Given the description of an element on the screen output the (x, y) to click on. 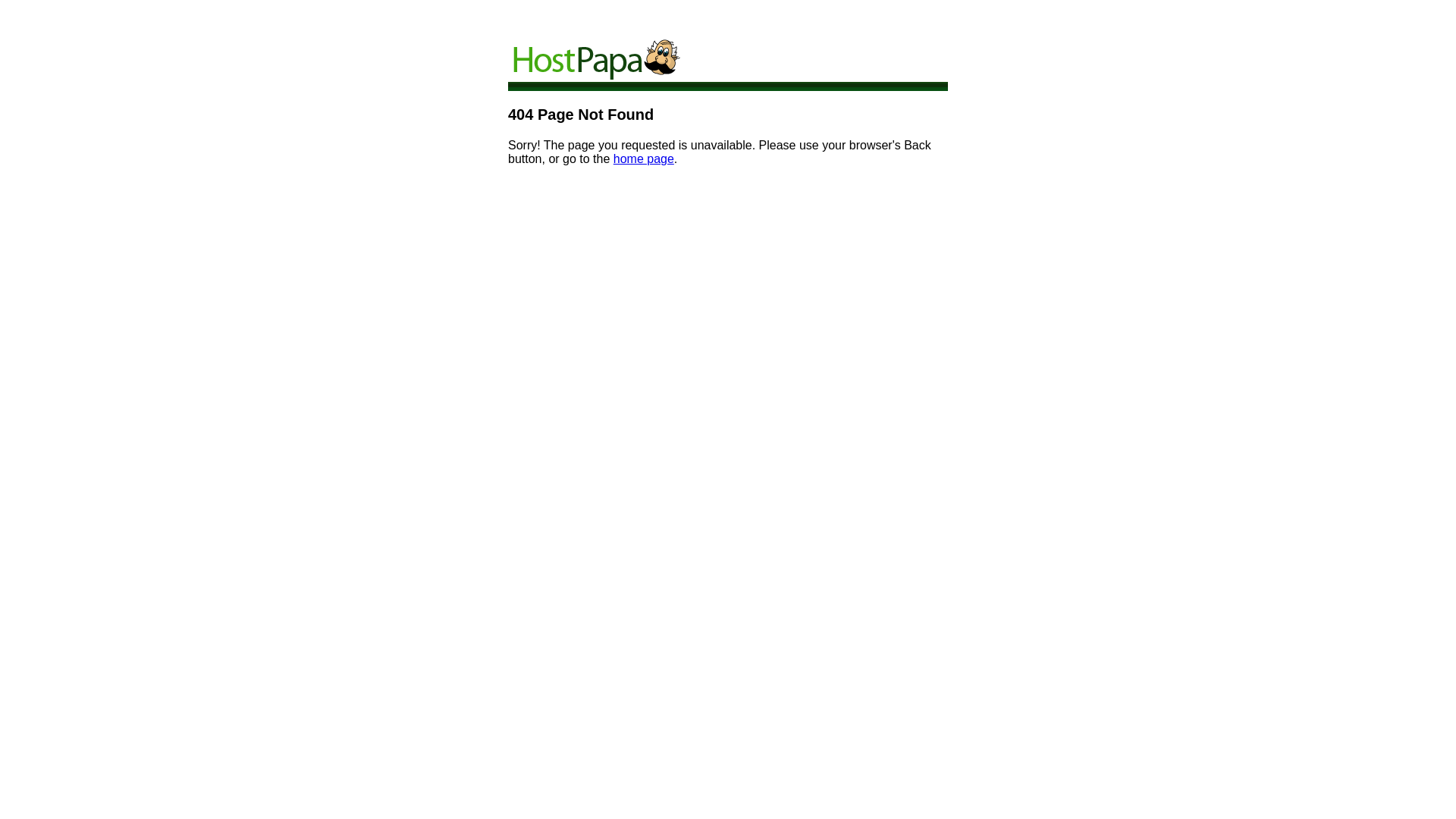
home page Element type: text (643, 158)
